Given the description of an element on the screen output the (x, y) to click on. 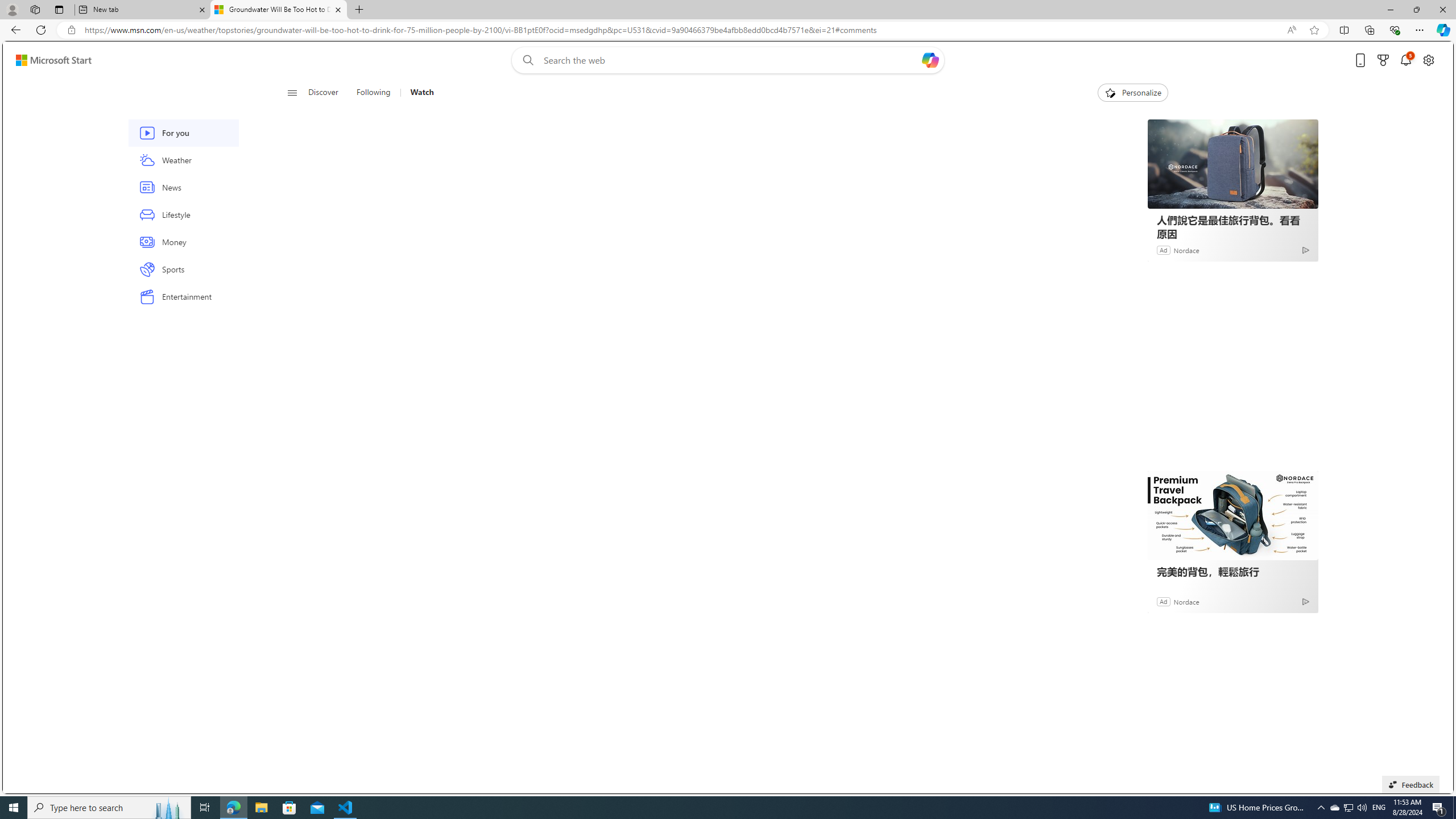
Class: button-glyph (292, 92)
Personalize (1132, 92)
Enter your search term (730, 59)
